Given the description of an element on the screen output the (x, y) to click on. 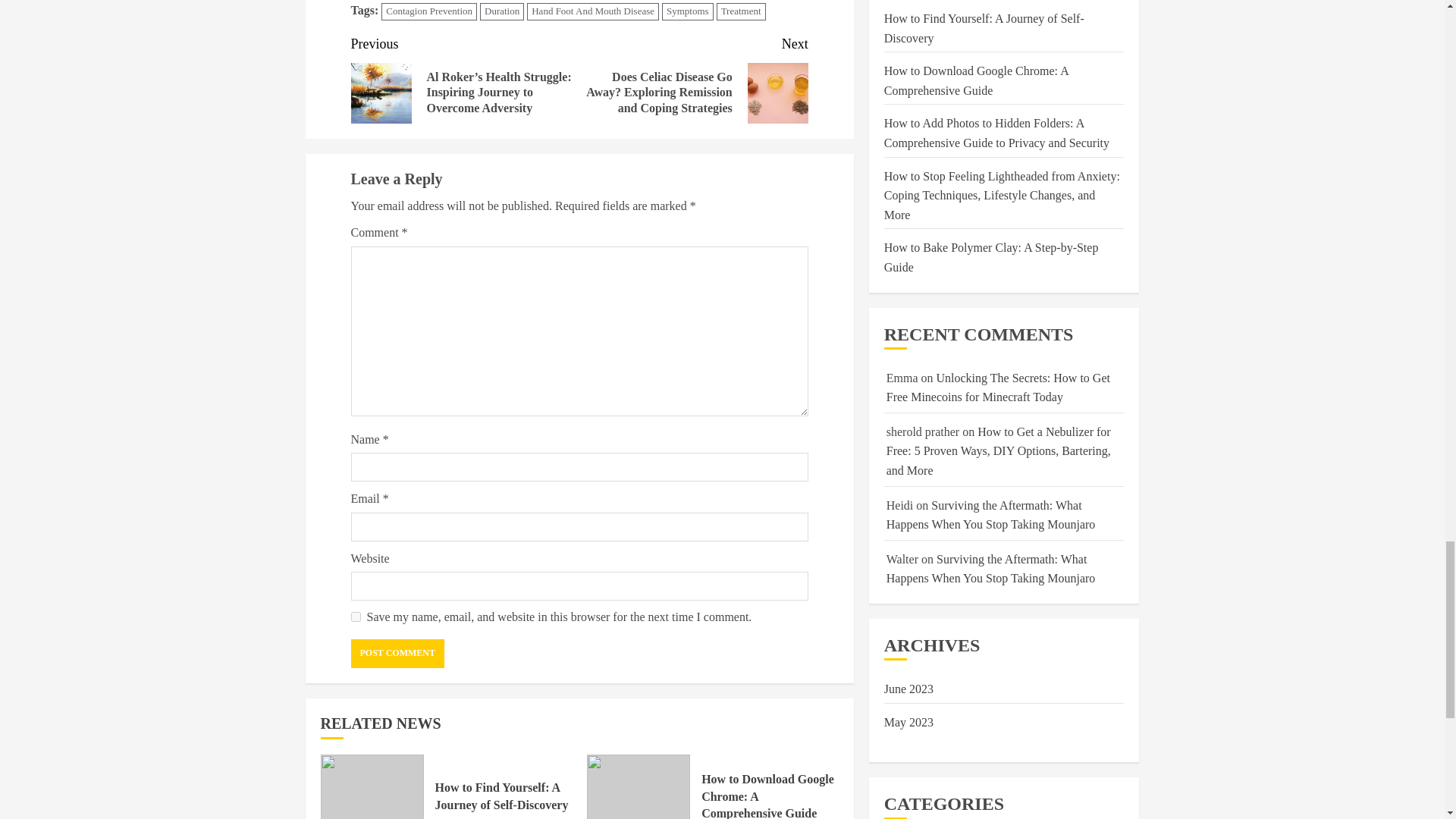
How to Find Yourself: A Journey of Self-Discovery (502, 796)
Post Comment (397, 653)
Post Comment (397, 653)
Contagion Prevention (429, 11)
How to Download Google Chrome: A Comprehensive Guide (767, 796)
How to Download Google Chrome: A Comprehensive Guide (638, 786)
yes (354, 616)
Duration (502, 11)
Hand Foot And Mouth Disease (593, 11)
Symptoms (687, 11)
